Given the description of an element on the screen output the (x, y) to click on. 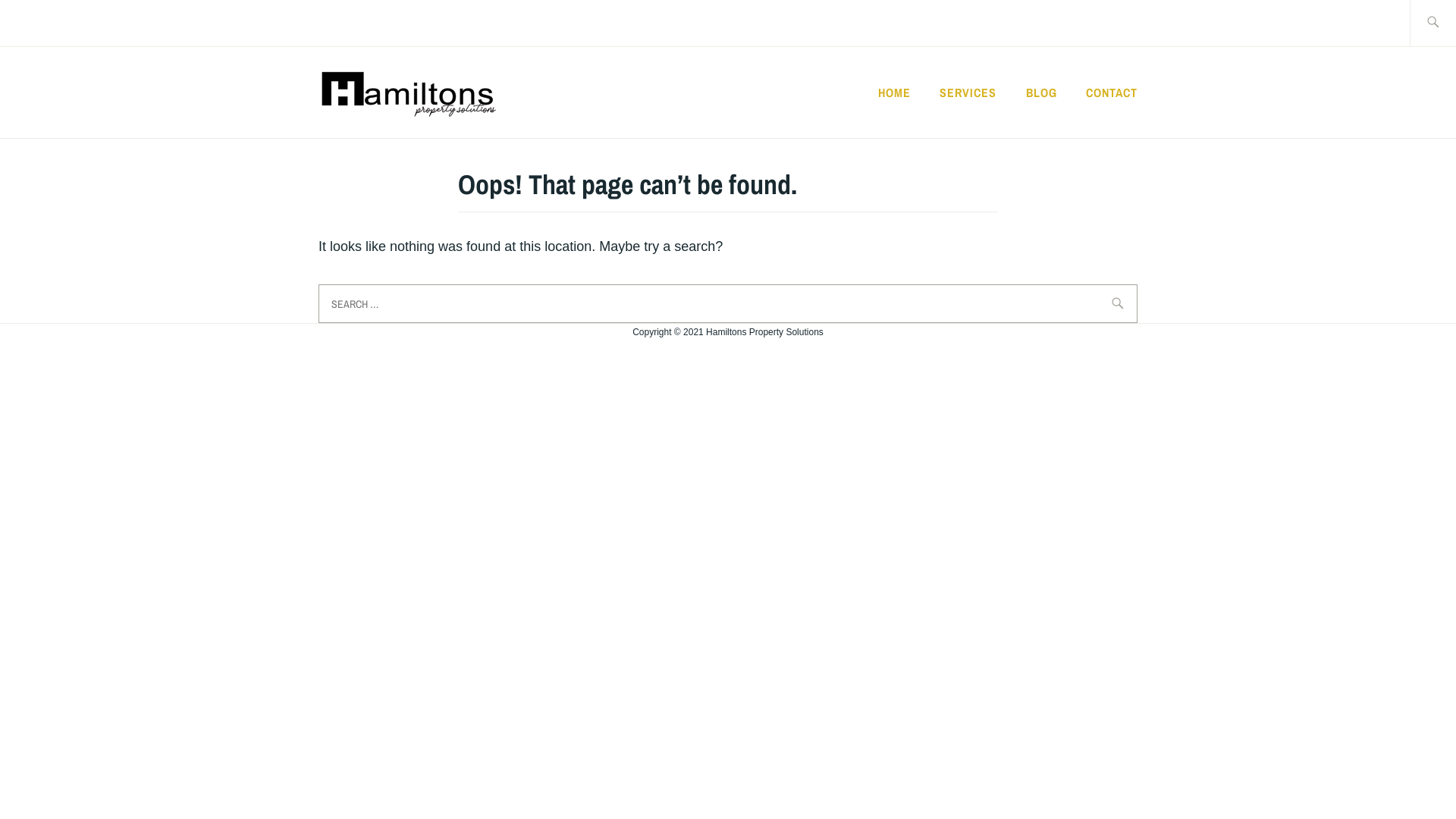
BLOG Element type: text (1041, 92)
SERVICES Element type: text (967, 92)
HOME Element type: text (894, 92)
HAMILTONS PROPERTY SOLUTIONS Element type: text (834, 116)
CONTACT Element type: text (1111, 92)
Search for: Element type: hover (727, 303)
Search Element type: text (47, 21)
